Given the description of an element on the screen output the (x, y) to click on. 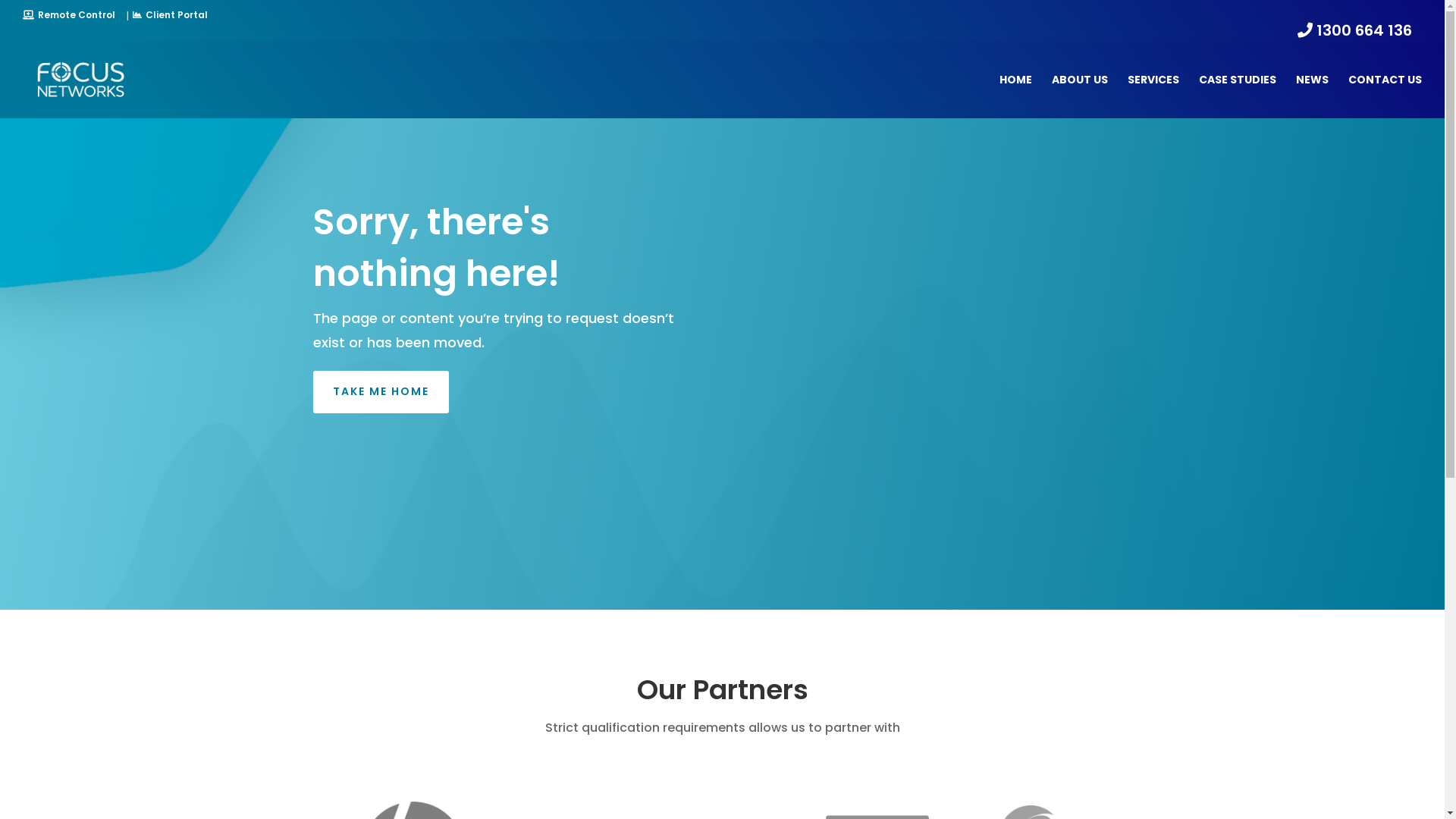
CASE STUDIES Element type: text (1237, 96)
NEWS Element type: text (1311, 96)
1300 664 136 Element type: text (1354, 31)
SERVICES Element type: text (1153, 96)
CONTACT US Element type: text (1384, 96)
TAKE ME HOME Element type: text (380, 391)
Remote Control Element type: text (68, 14)
HOME Element type: text (1015, 96)
ABOUT US Element type: text (1079, 96)
Client Portal Element type: text (169, 14)
